Given the description of an element on the screen output the (x, y) to click on. 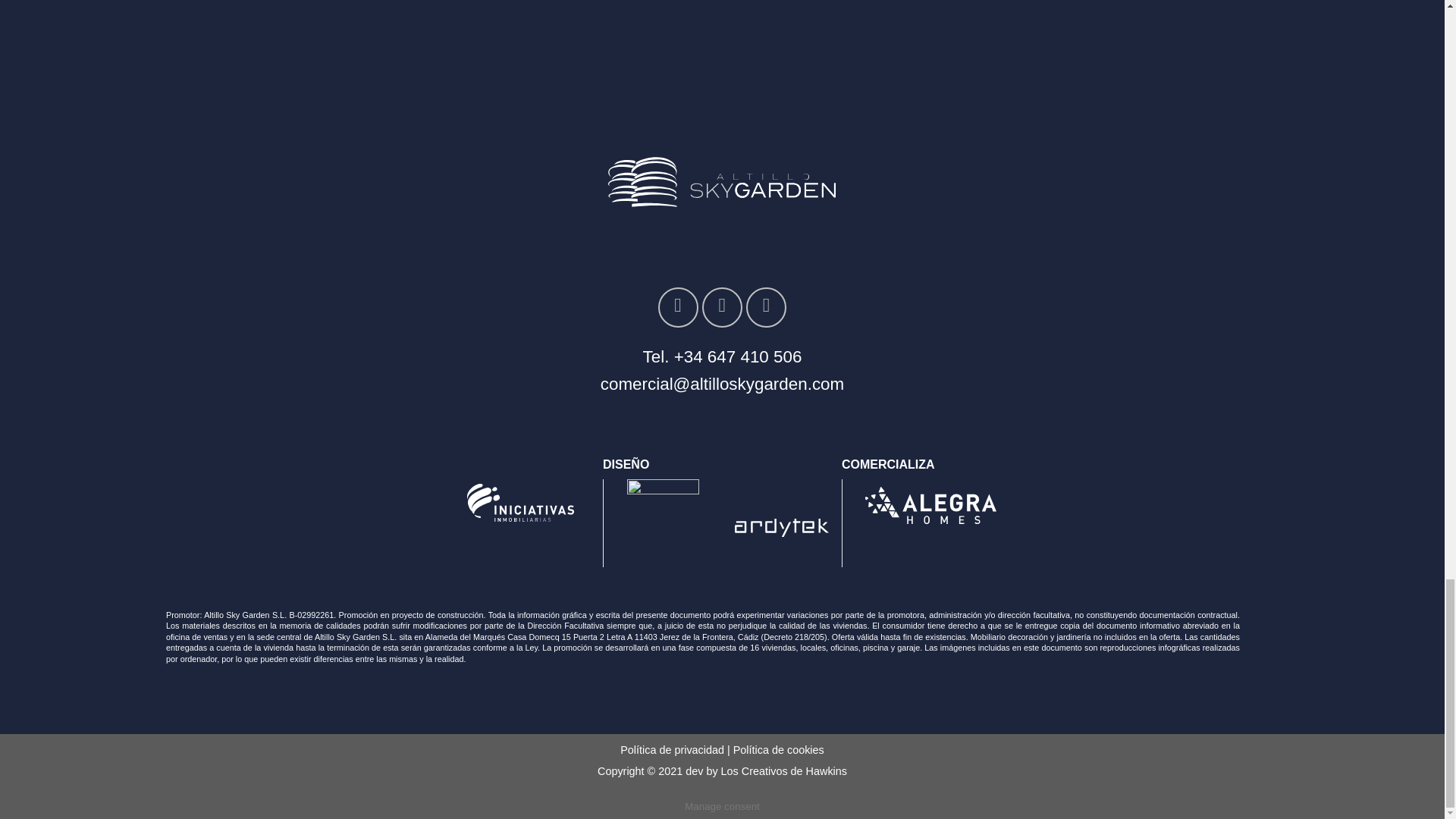
Los Creativos de Hawkins (783, 770)
